Given the description of an element on the screen output the (x, y) to click on. 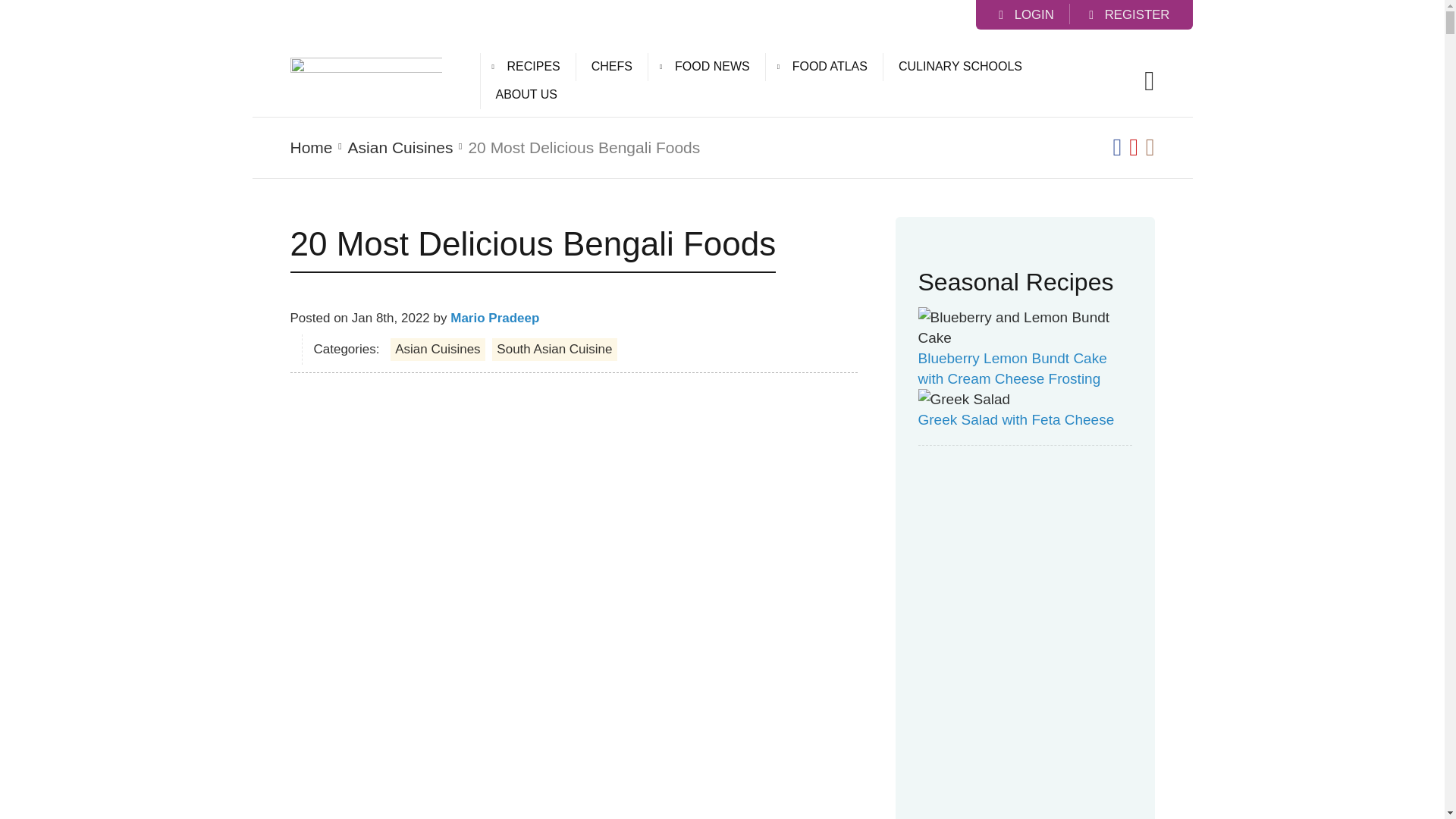
View all posts in Asian Cuisines (399, 147)
RECIPES (532, 67)
CHEFS (611, 67)
LOGIN (1026, 15)
CULINARY SCHOOLS (960, 67)
REGISTER (1129, 15)
ABOUT US (526, 94)
FOOD NEWS (712, 67)
FOOD ATLAS (829, 67)
